Given the description of an element on the screen output the (x, y) to click on. 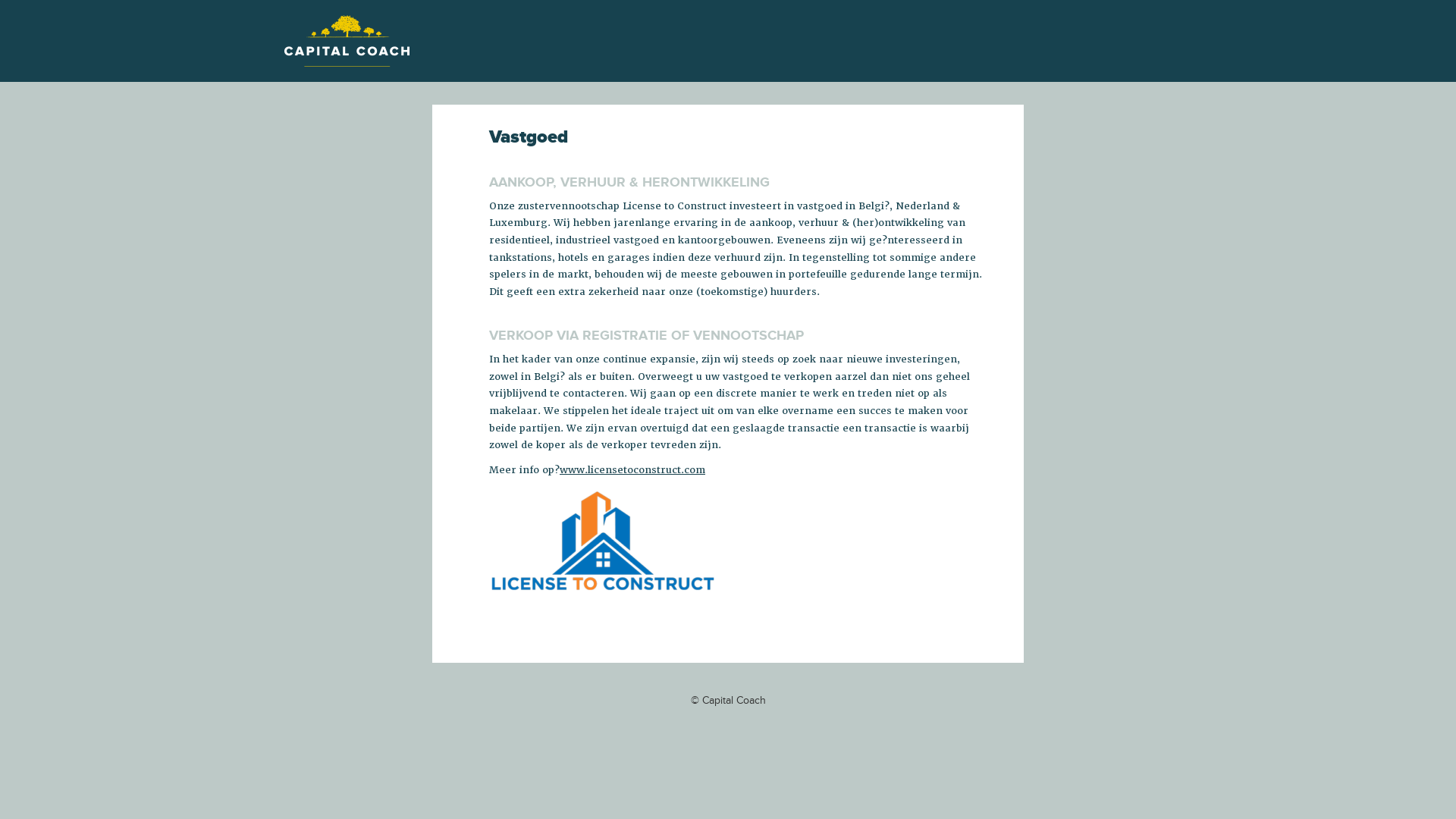
Capital Coach Element type: text (346, 40)
www.licensetoconstruct.com Element type: text (632, 469)
